Given the description of an element on the screen output the (x, y) to click on. 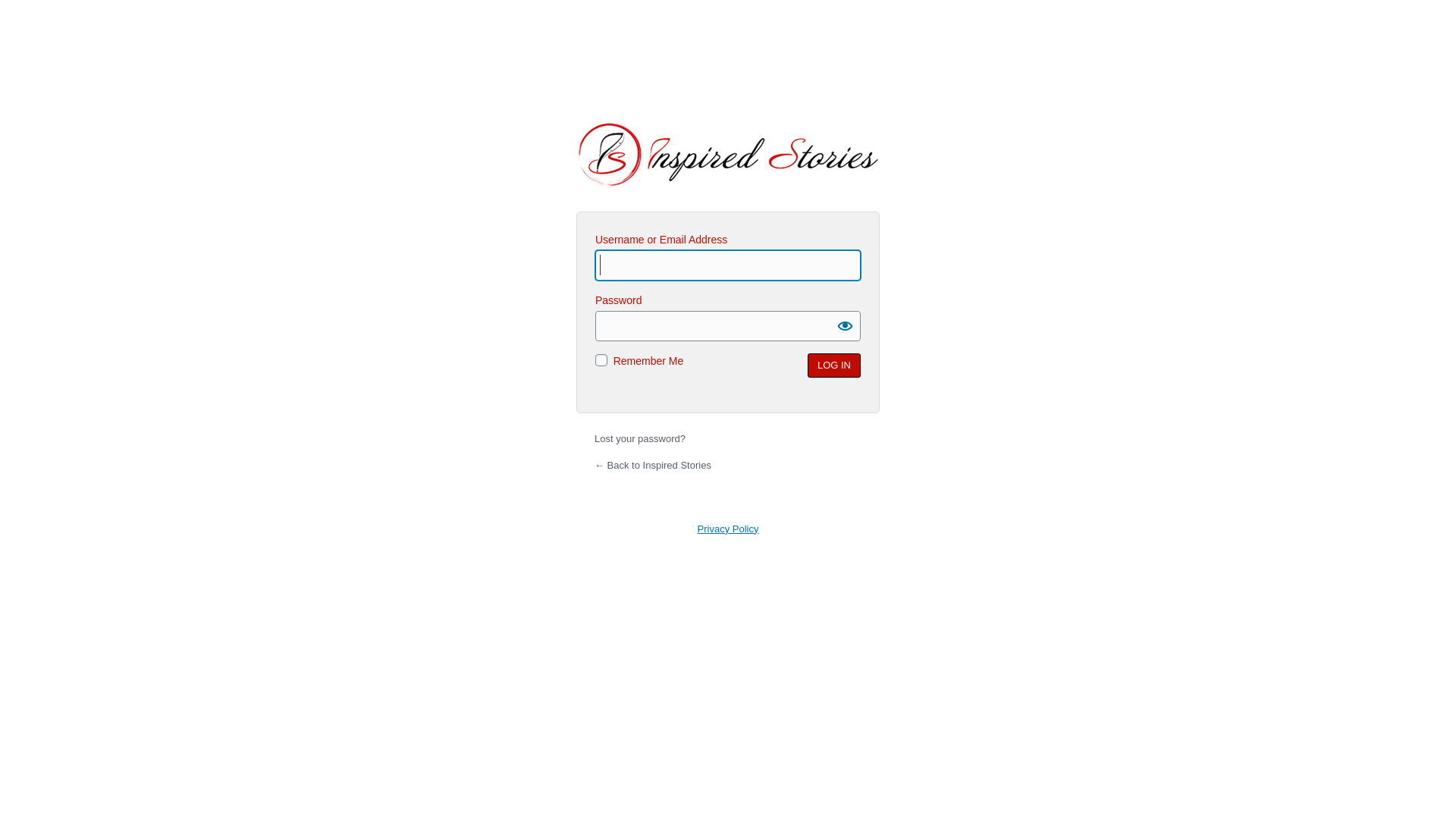
Lost your password? Element type: text (639, 438)
Privacy Policy Element type: text (728, 528)
Log In Element type: text (833, 365)
